Given the description of an element on the screen output the (x, y) to click on. 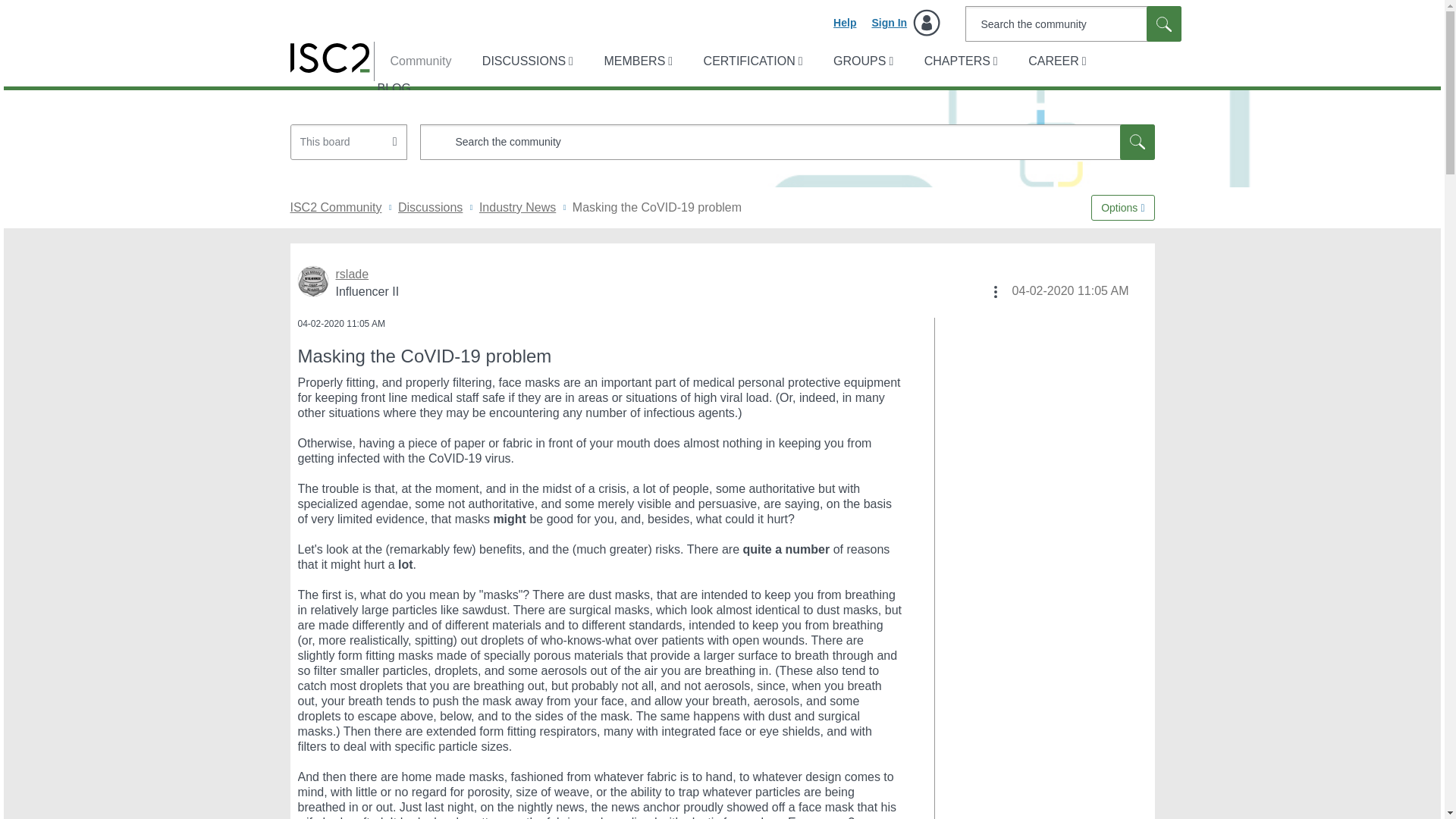
Community (412, 61)
Search (1136, 141)
Search (787, 141)
Search (1136, 141)
CERTIFICATION (751, 61)
MEMBERS (635, 61)
DISCUSSIONS (526, 61)
GROUPS (861, 61)
Search (1071, 23)
Search (1163, 23)
